Given the description of an element on the screen output the (x, y) to click on. 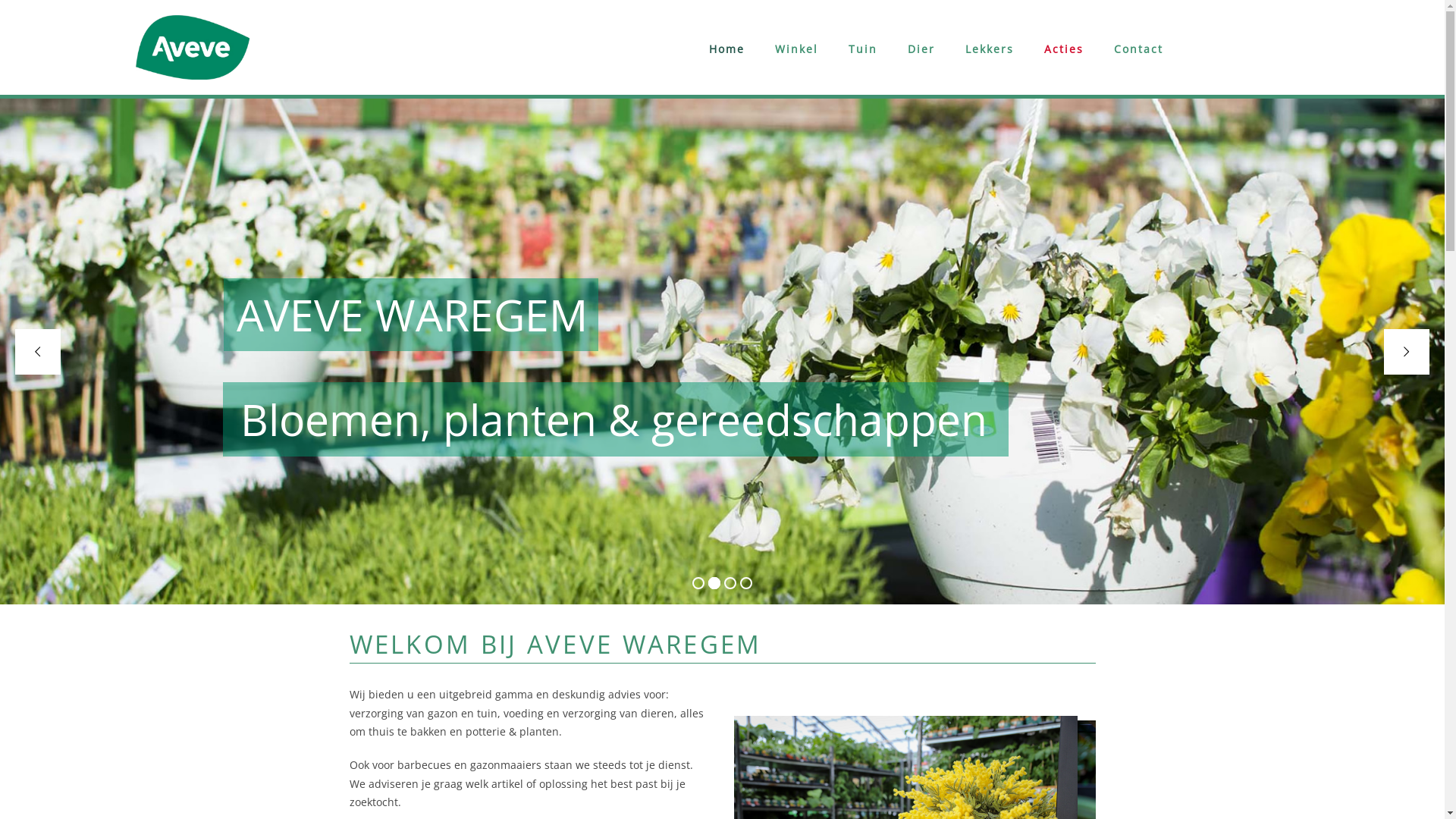
Dier Element type: text (921, 49)
Lekkers Element type: text (989, 49)
Home Element type: text (726, 49)
Acties Element type: text (1063, 49)
Winkel Element type: text (796, 49)
Ga door naar navigatie Element type: text (134, 6)
Contact Element type: text (1138, 49)
Tuin Element type: text (862, 49)
